Given the description of an element on the screen output the (x, y) to click on. 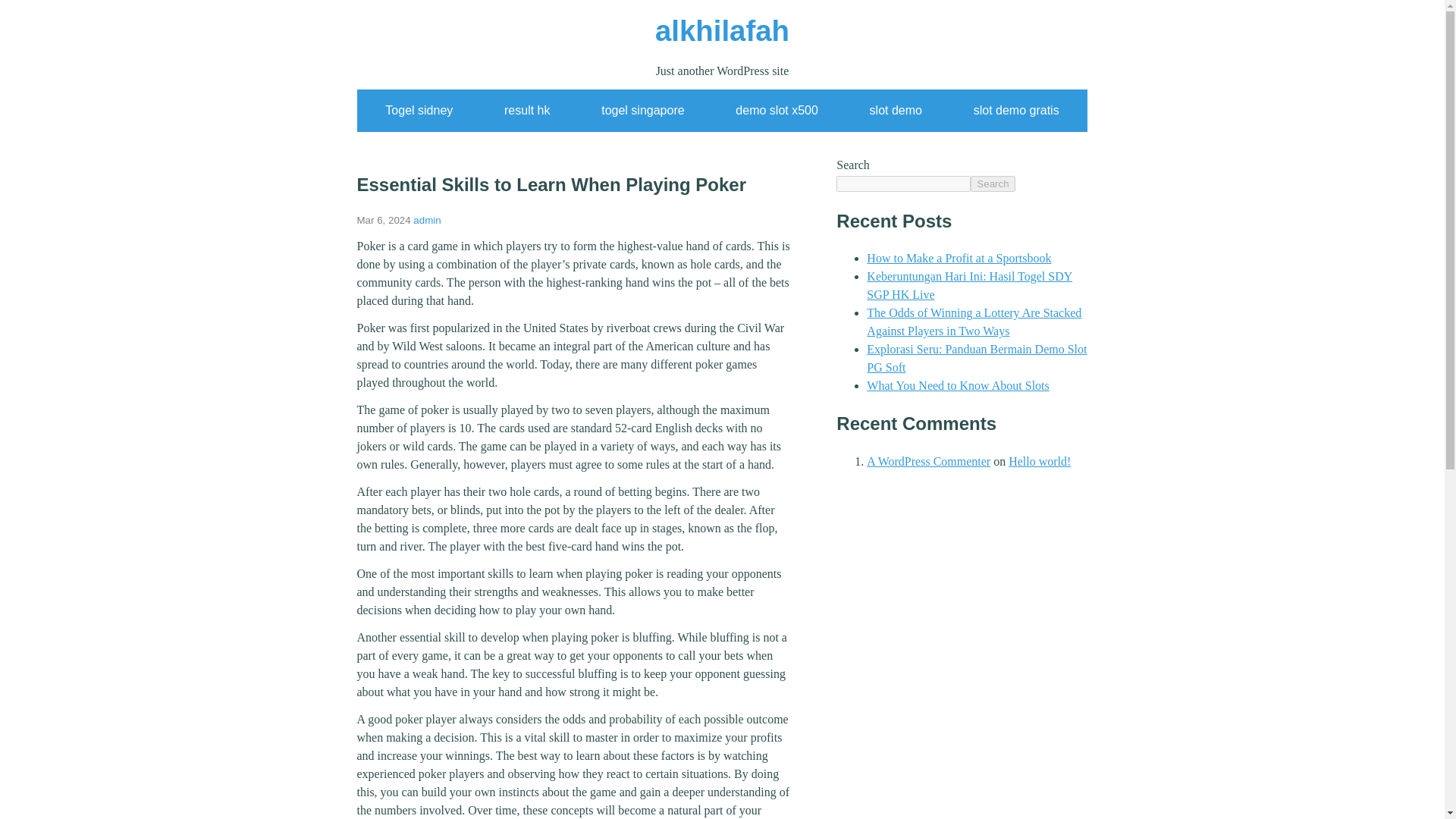
Search (992, 183)
admin (427, 220)
slot demo (895, 110)
A WordPress Commenter (928, 461)
How to Make a Profit at a Sportsbook (958, 257)
slot demo gratis (1016, 110)
alkhilafah (722, 30)
Hello world! (1039, 461)
togel singapore (642, 110)
What You Need to Know About Slots (957, 385)
result hk (526, 110)
demo slot x500 (776, 110)
Togel sidney (418, 110)
Explorasi Seru: Panduan Bermain Demo Slot PG Soft (976, 358)
